Given the description of an element on the screen output the (x, y) to click on. 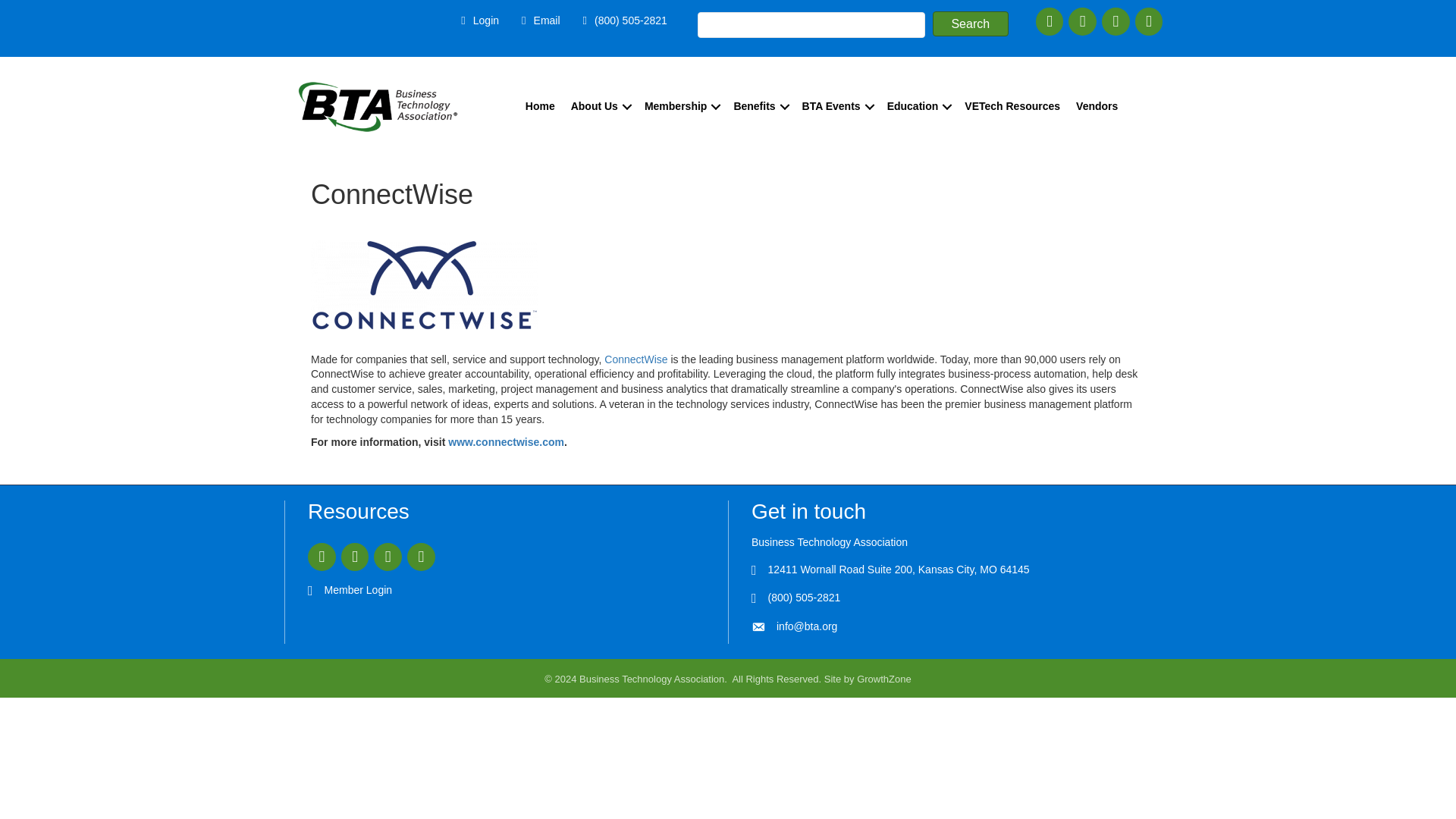
About Us (599, 106)
Login (475, 20)
ConnectWiselogo (424, 284)
Search (971, 23)
Search (971, 23)
Benefits (759, 106)
Email (536, 20)
Membership (681, 106)
Home (540, 106)
BTA Events (836, 106)
Search (971, 23)
bta logo (377, 106)
